Given the description of an element on the screen output the (x, y) to click on. 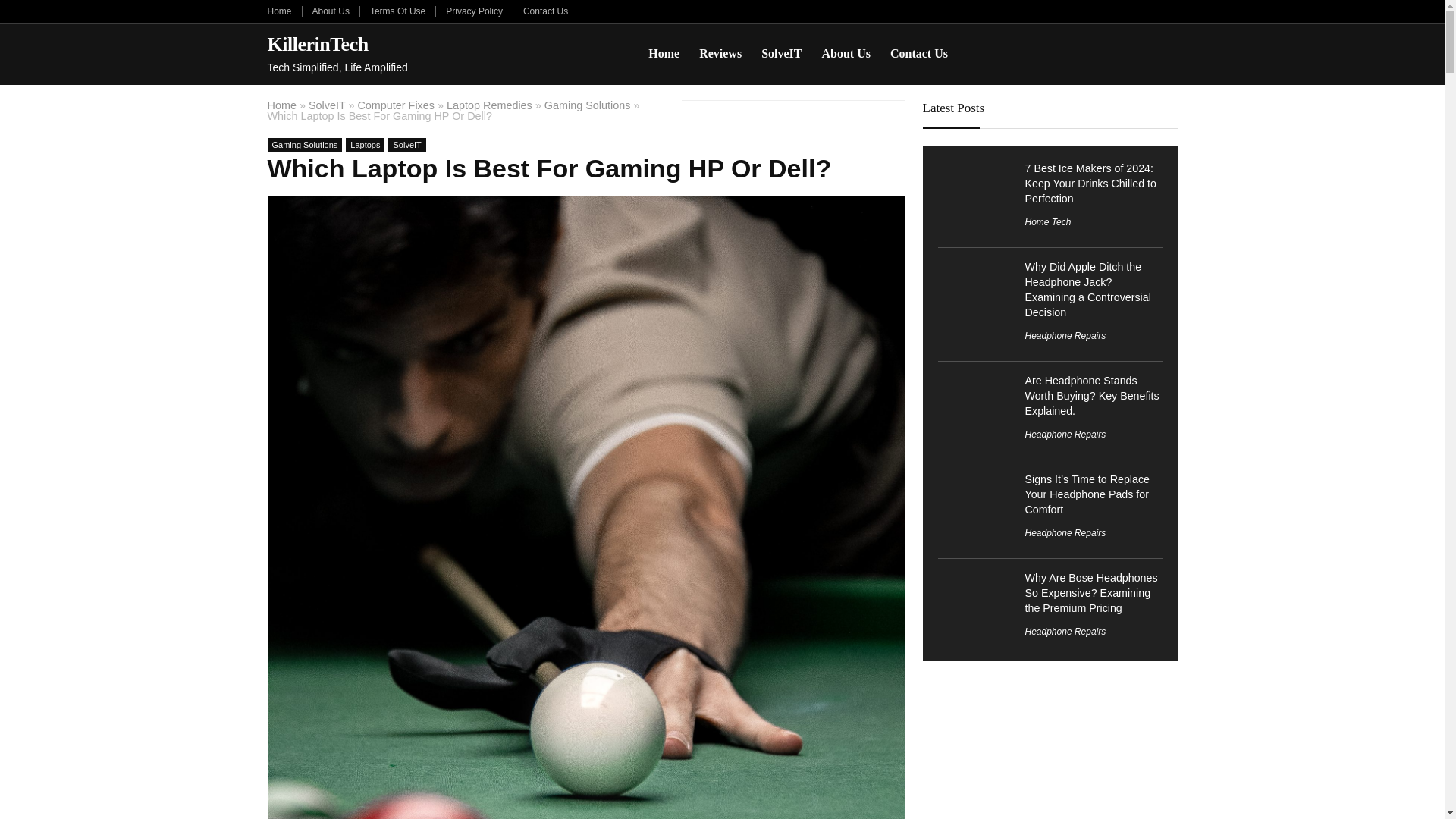
Terms Of Use (397, 10)
About Us (331, 10)
Home (278, 10)
View all posts in SolveIT (406, 144)
SolveIT (327, 105)
View all posts in Laptops (365, 144)
Gaming Solutions (304, 144)
Home (663, 53)
SolveIT (780, 53)
Computer Fixes (394, 105)
